Given the description of an element on the screen output the (x, y) to click on. 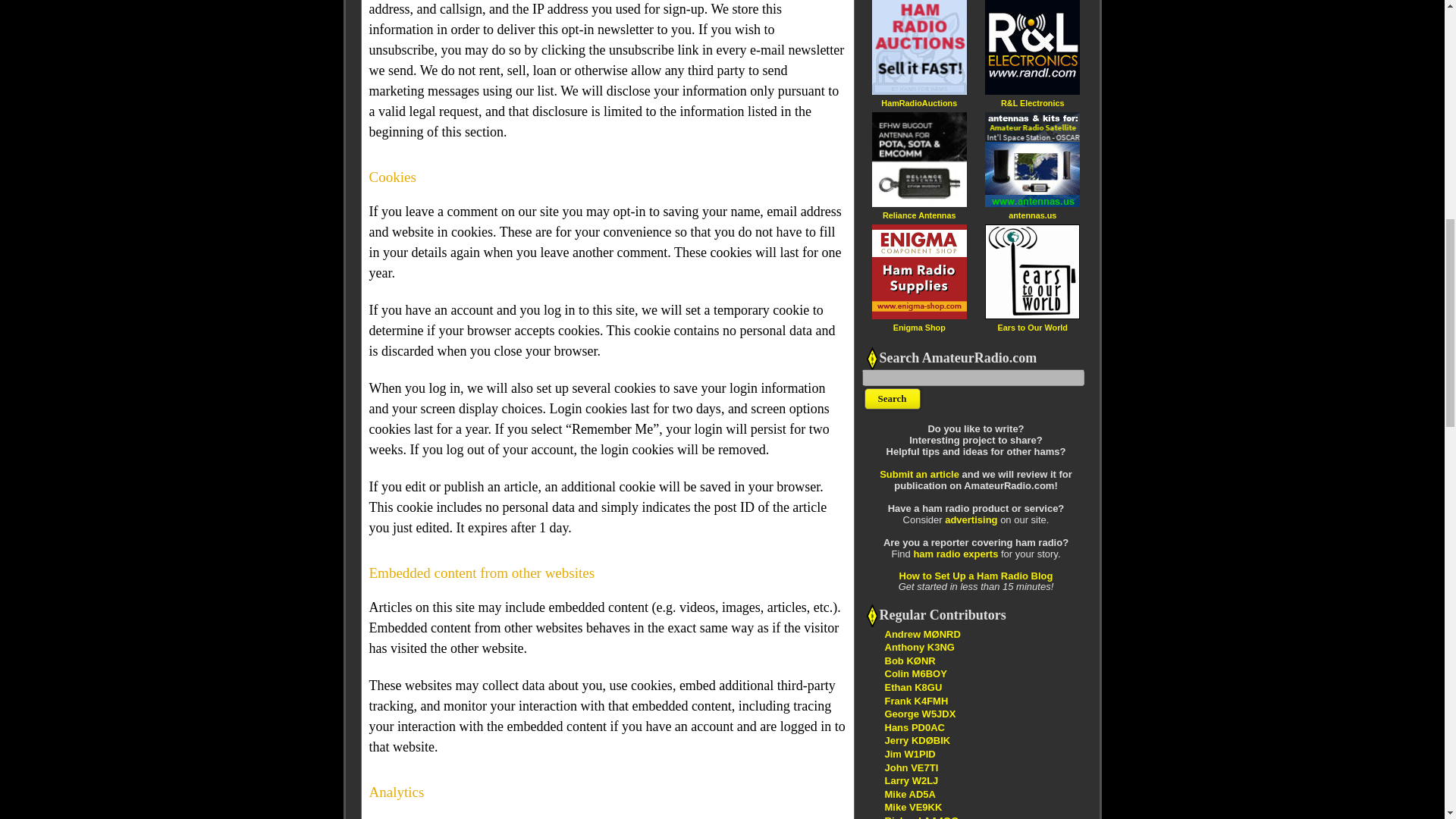
advertising (970, 519)
Search (891, 398)
Submit an article (919, 473)
How to Set Up a Ham Radio Blog (975, 575)
Enigma Shop (918, 326)
Colin M6BOY (914, 673)
Reliance Antennas (918, 214)
Anthony K3NG (918, 646)
Entertain, Encourage, Educate and Inspire (916, 740)
Search (891, 398)
MY HAM RADIO EXPERIENCES (908, 794)
Lower your Power  Raise your Expectations (920, 816)
Thoughts of a Dutch radio amateur (913, 727)
ham radio experts (954, 553)
